Given the description of an element on the screen output the (x, y) to click on. 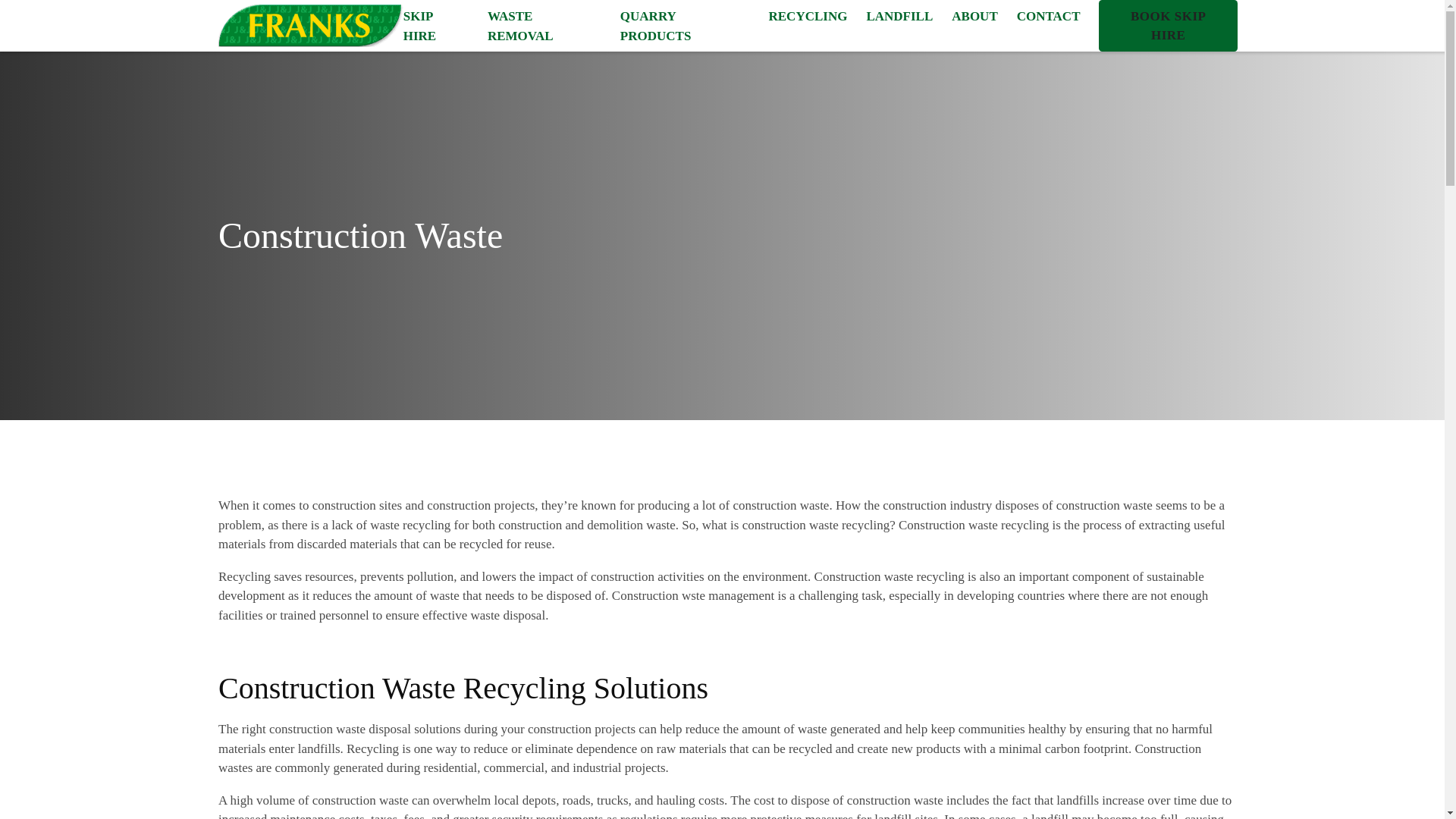
CONTACT (1048, 15)
SKIP HIRE (435, 25)
ABOUT (974, 15)
RECYCLING (807, 15)
BOOK SKIP HIRE (1168, 25)
WASTE REMOVAL (544, 25)
LANDFILL (899, 15)
QUARRY PRODUCTS (684, 25)
